Given the description of an element on the screen output the (x, y) to click on. 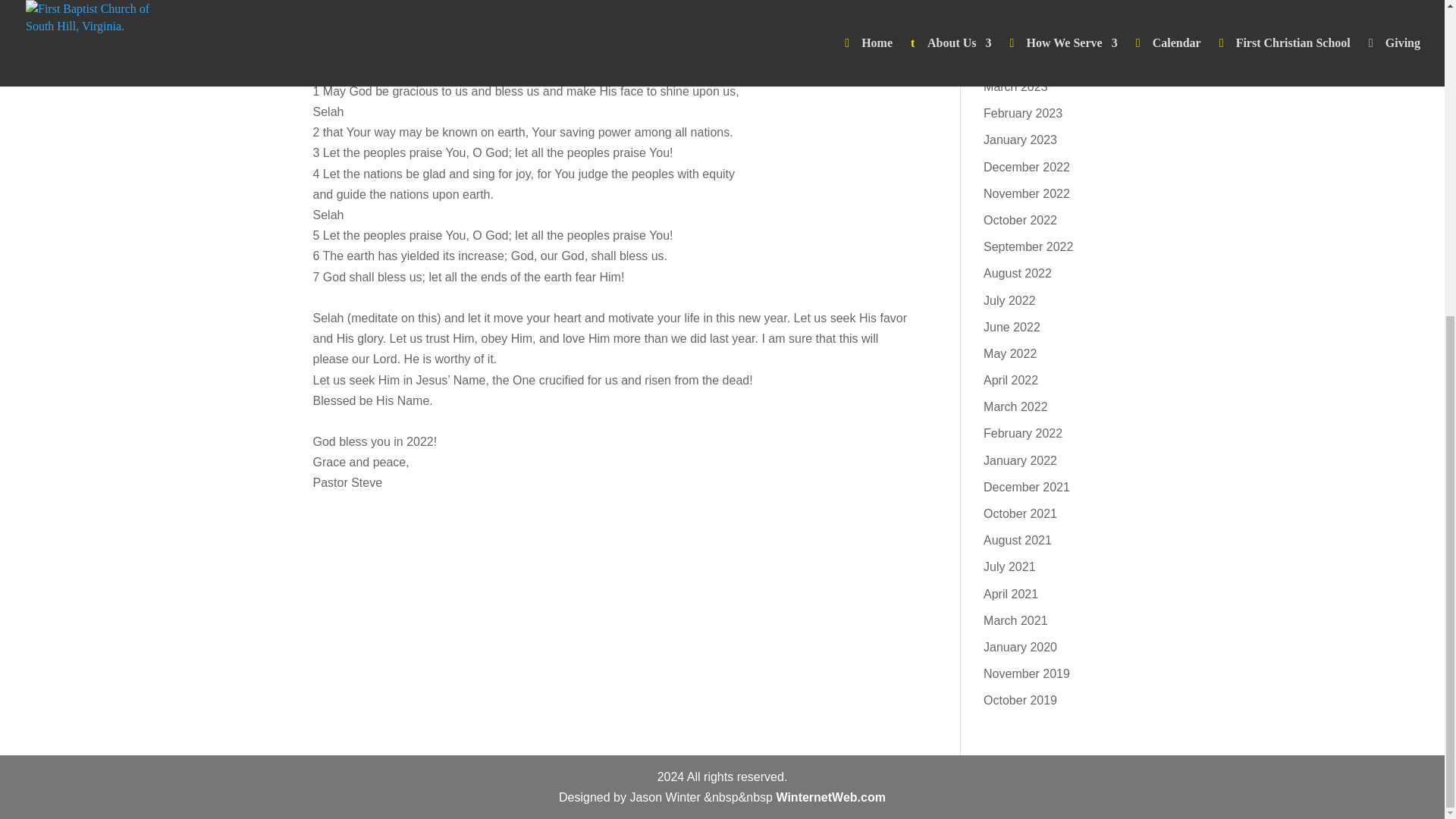
July 2022 (1009, 300)
April 2023 (1011, 60)
December 2022 (1027, 166)
May 2023 (1010, 33)
November 2022 (1027, 193)
February 2023 (1023, 113)
January 2023 (1020, 139)
March 2023 (1016, 86)
October 2022 (1020, 219)
June 2023 (1012, 6)
